Given the description of an element on the screen output the (x, y) to click on. 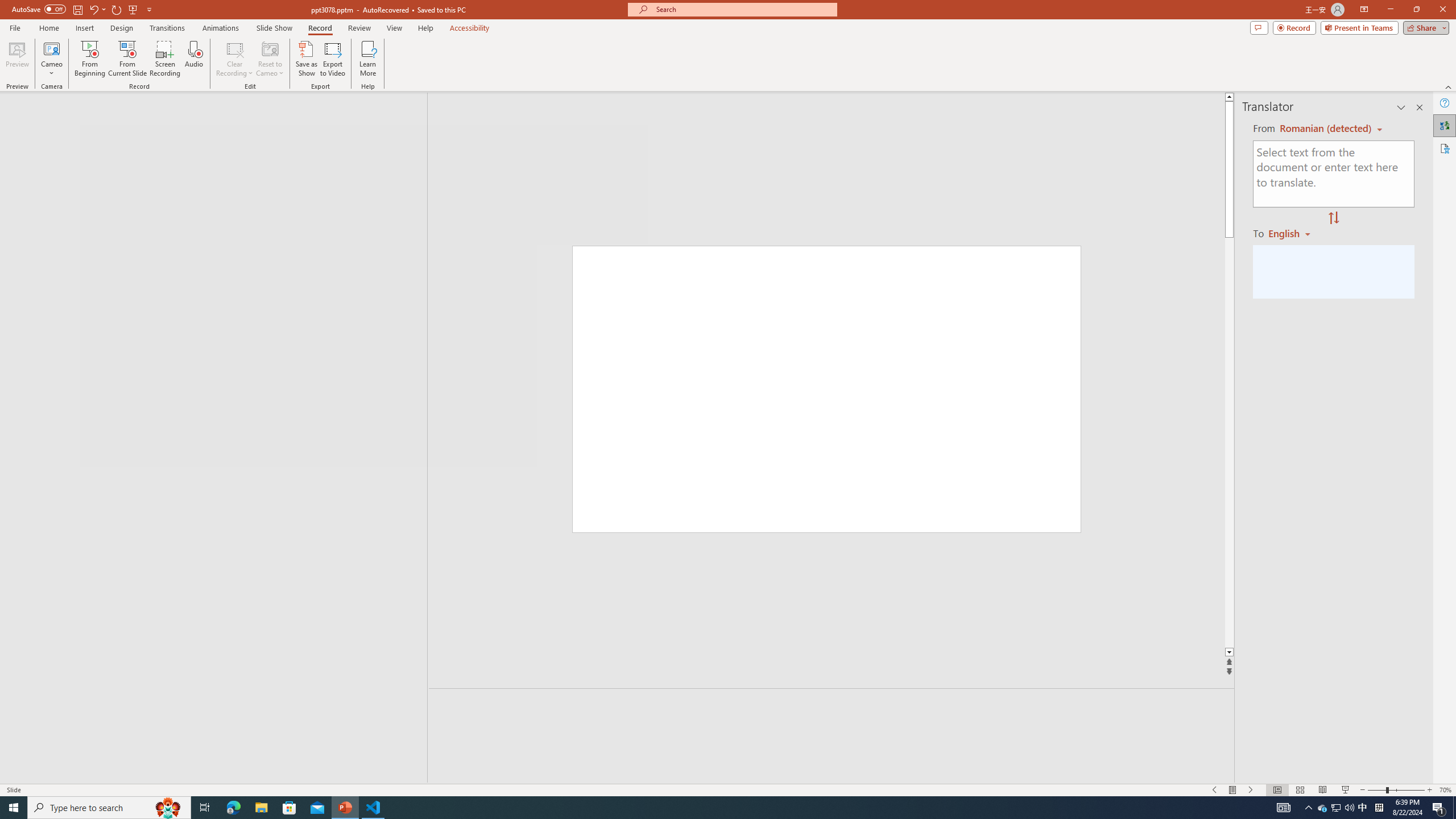
Screen Recording (165, 58)
Help (1444, 102)
More Options (51, 68)
Romanian (1293, 232)
Customize Quick Access Toolbar (149, 9)
Slide Show (1344, 790)
Export to Video (332, 58)
Task Pane Options (1400, 107)
Normal (1277, 790)
Audio (193, 58)
Close (1442, 9)
From Current Slide... (127, 58)
Share (1423, 27)
